Given the description of an element on the screen output the (x, y) to click on. 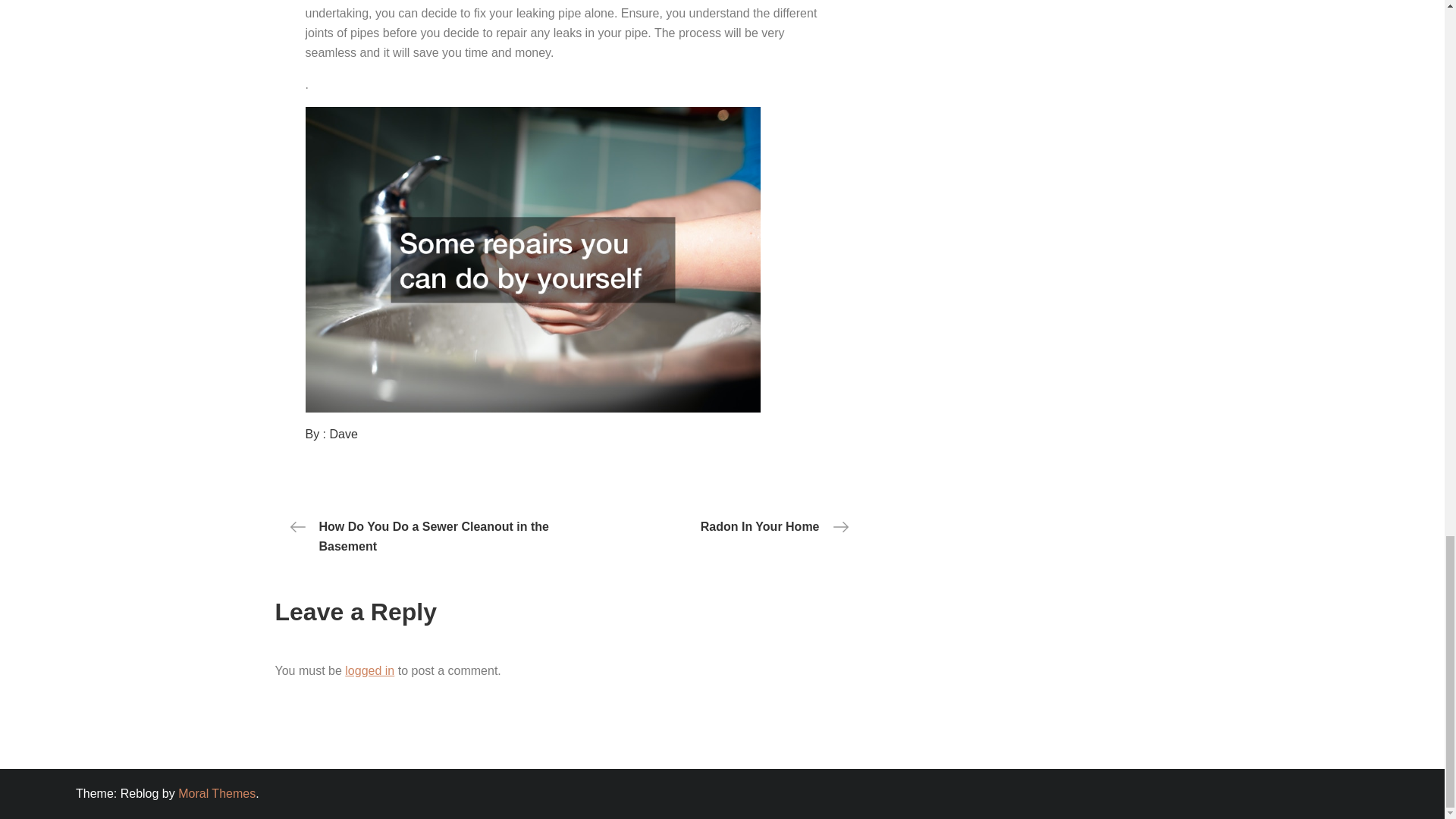
Moral Themes (216, 793)
logged in (369, 670)
Dave (344, 433)
